Given the description of an element on the screen output the (x, y) to click on. 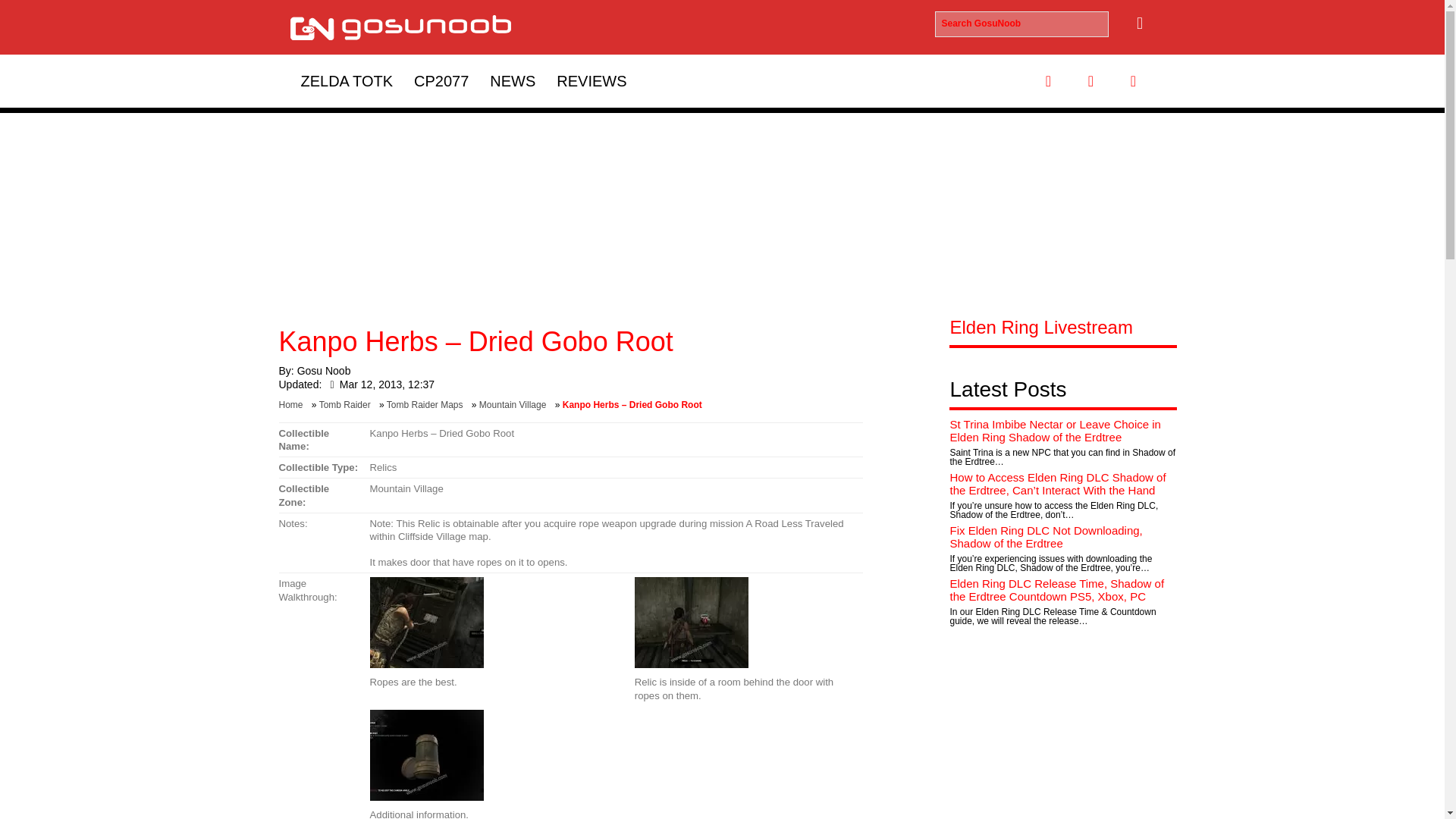
CP2077 (441, 80)
REVIEWS (591, 80)
Tomb Raider (347, 404)
NEWS (512, 80)
Mountain Village (516, 404)
Gosu Noob (323, 370)
Home (293, 404)
ZELDA TOTK (346, 80)
Cyberpunk 2077 (441, 80)
Tomb Raider Maps (427, 404)
